Given the description of an element on the screen output the (x, y) to click on. 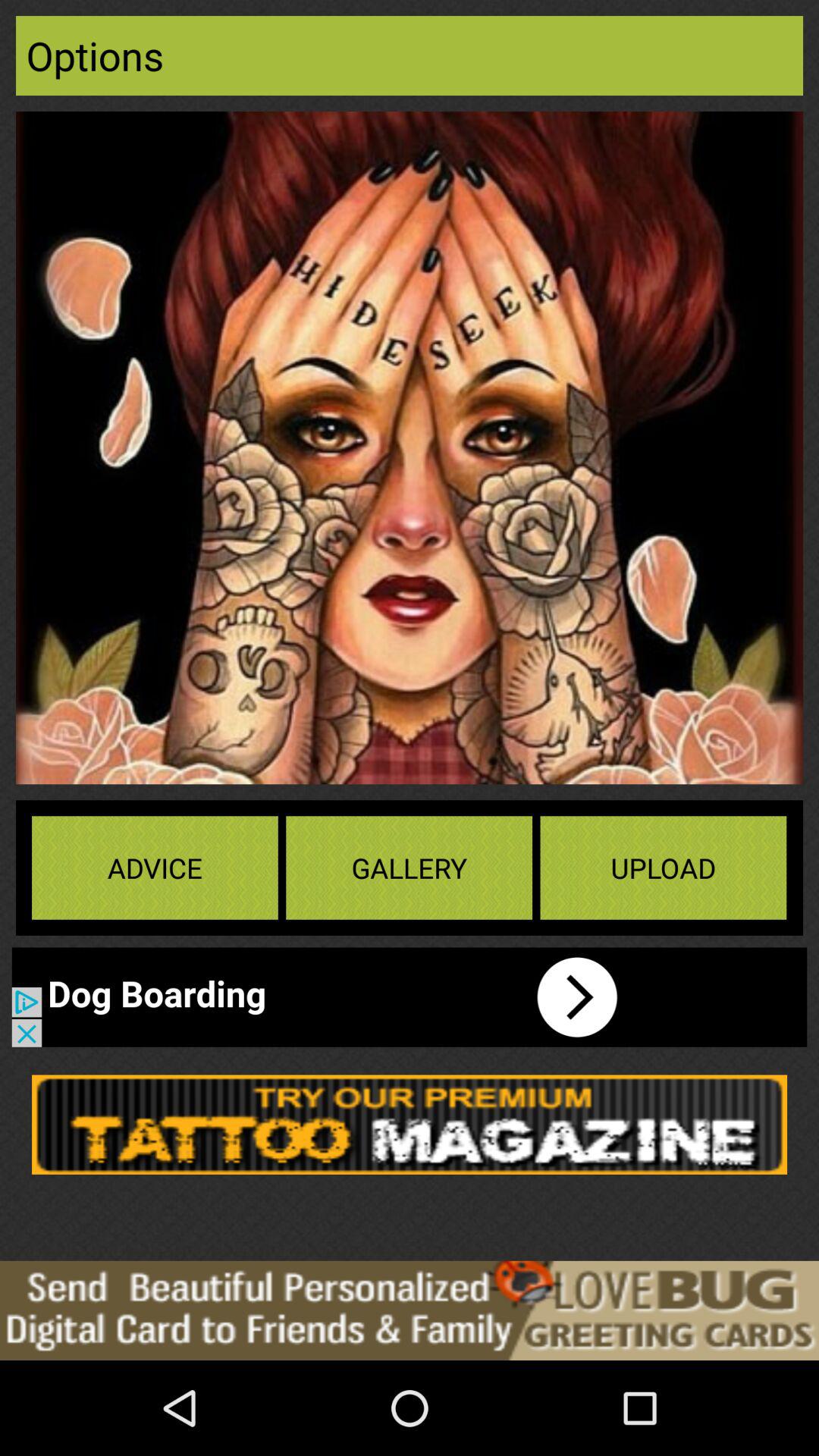
advertisement (409, 1310)
